Given the description of an element on the screen output the (x, y) to click on. 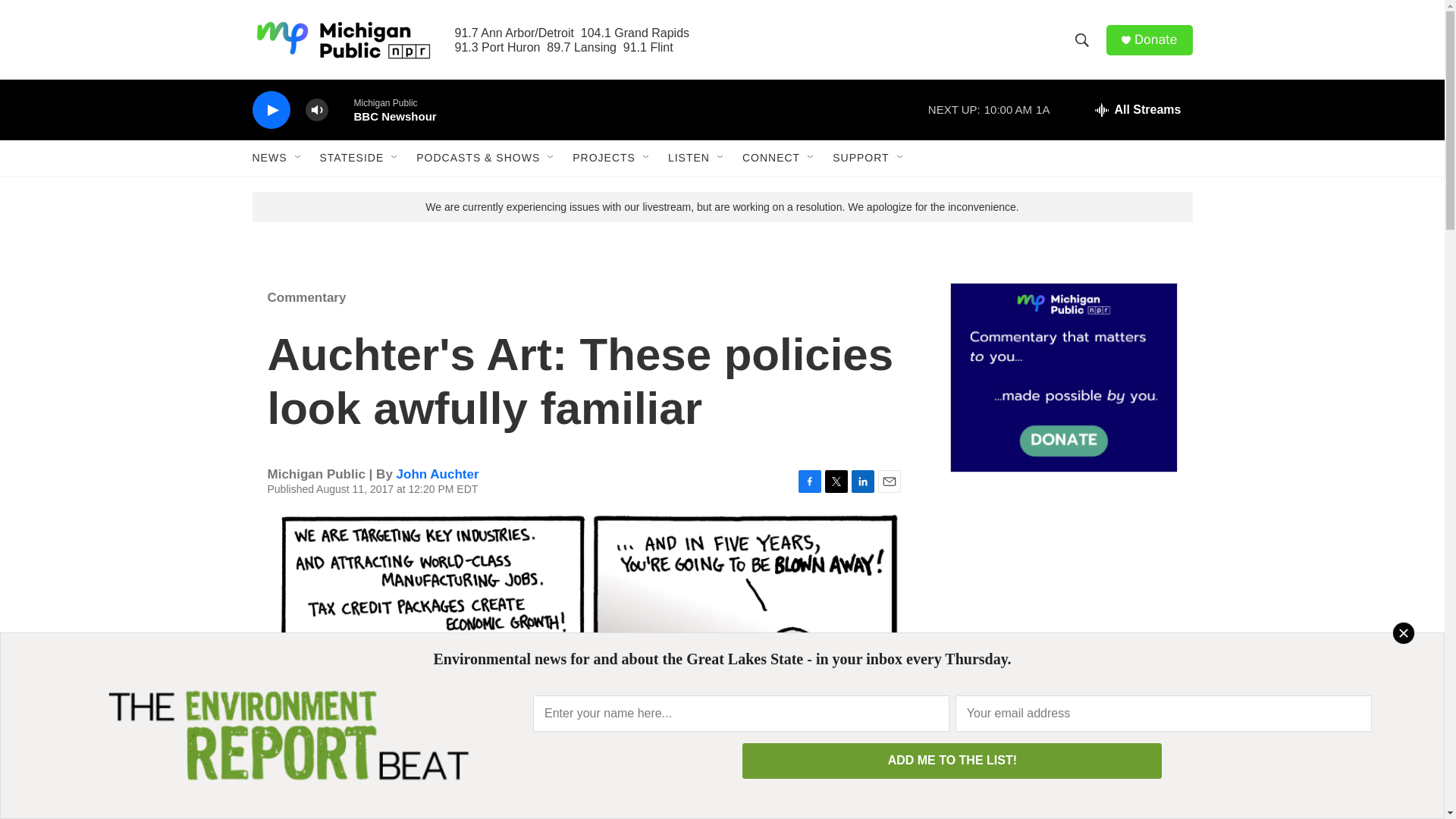
Close (1403, 632)
3rd party ad content (1062, 597)
ADD ME TO THE LIST! (951, 760)
